Given the description of an element on the screen output the (x, y) to click on. 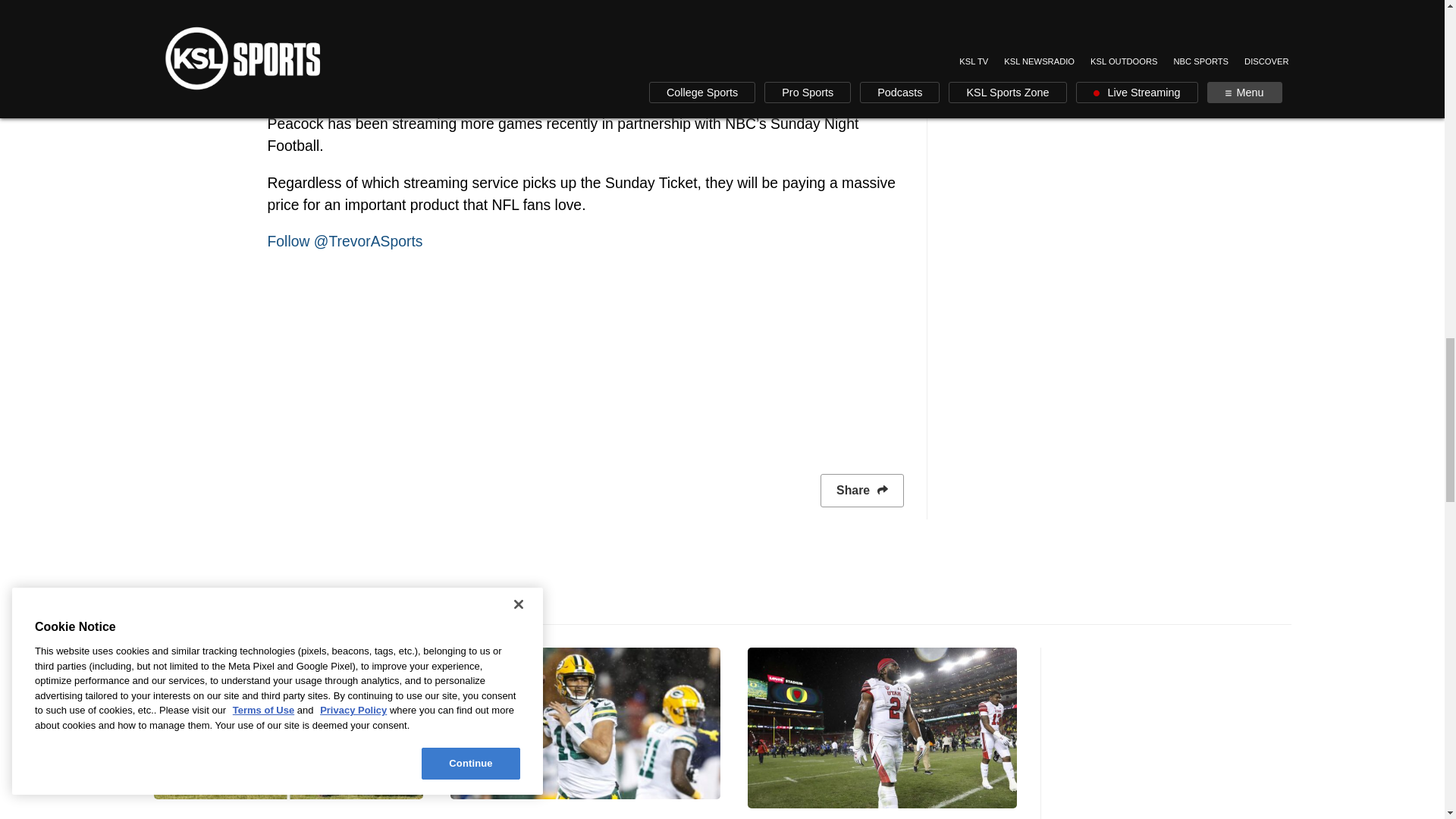
Signup Widget Embed (584, 356)
